Given the description of an element on the screen output the (x, y) to click on. 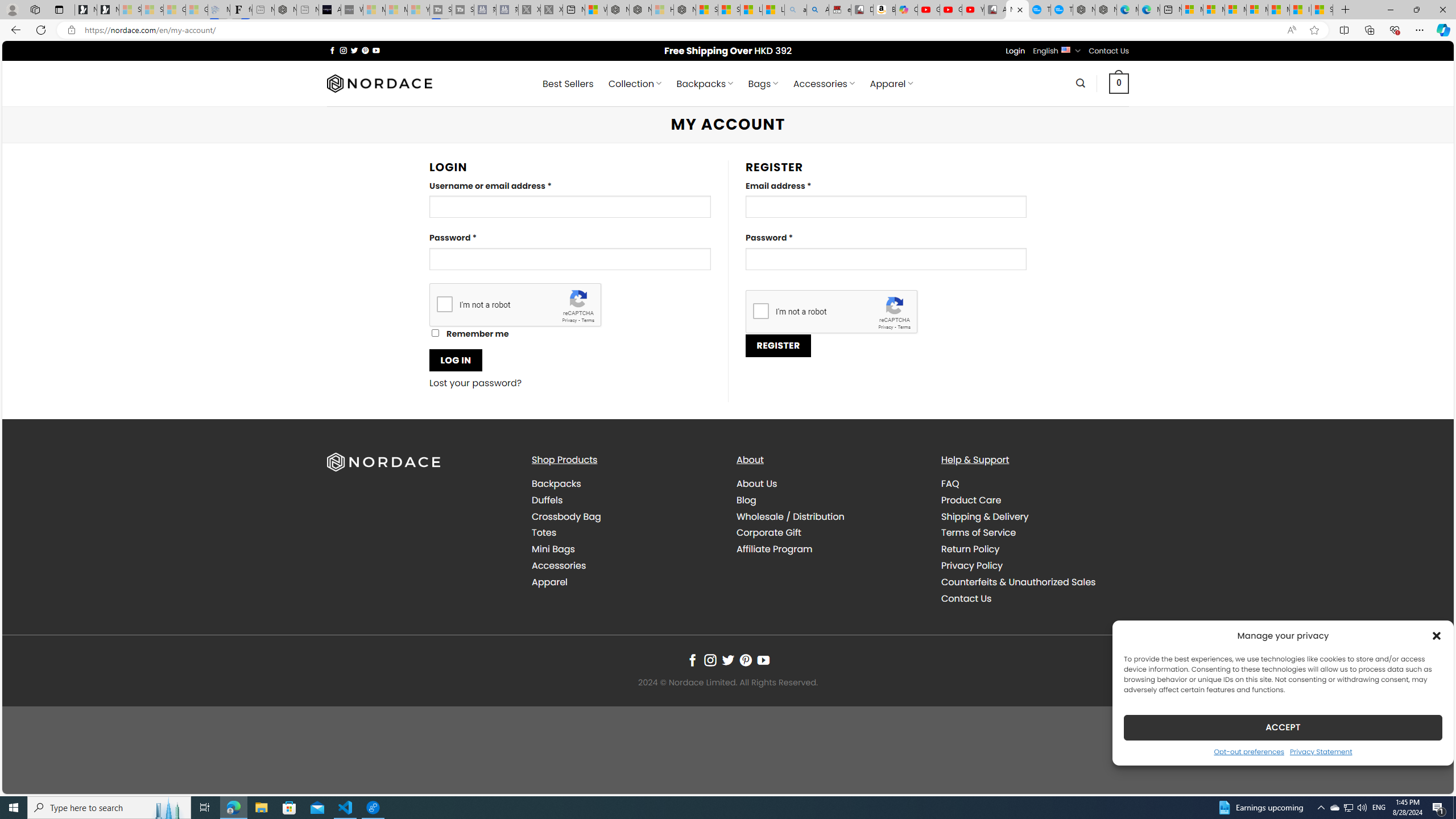
Newsletter Sign Up (107, 9)
Microsoft Start - Sleeping (396, 9)
Login (1015, 50)
Mini Bags (553, 549)
Backpacks (625, 483)
Return Policy (970, 549)
Product Care (1034, 499)
Follow on YouTube (763, 659)
